Given the description of an element on the screen output the (x, y) to click on. 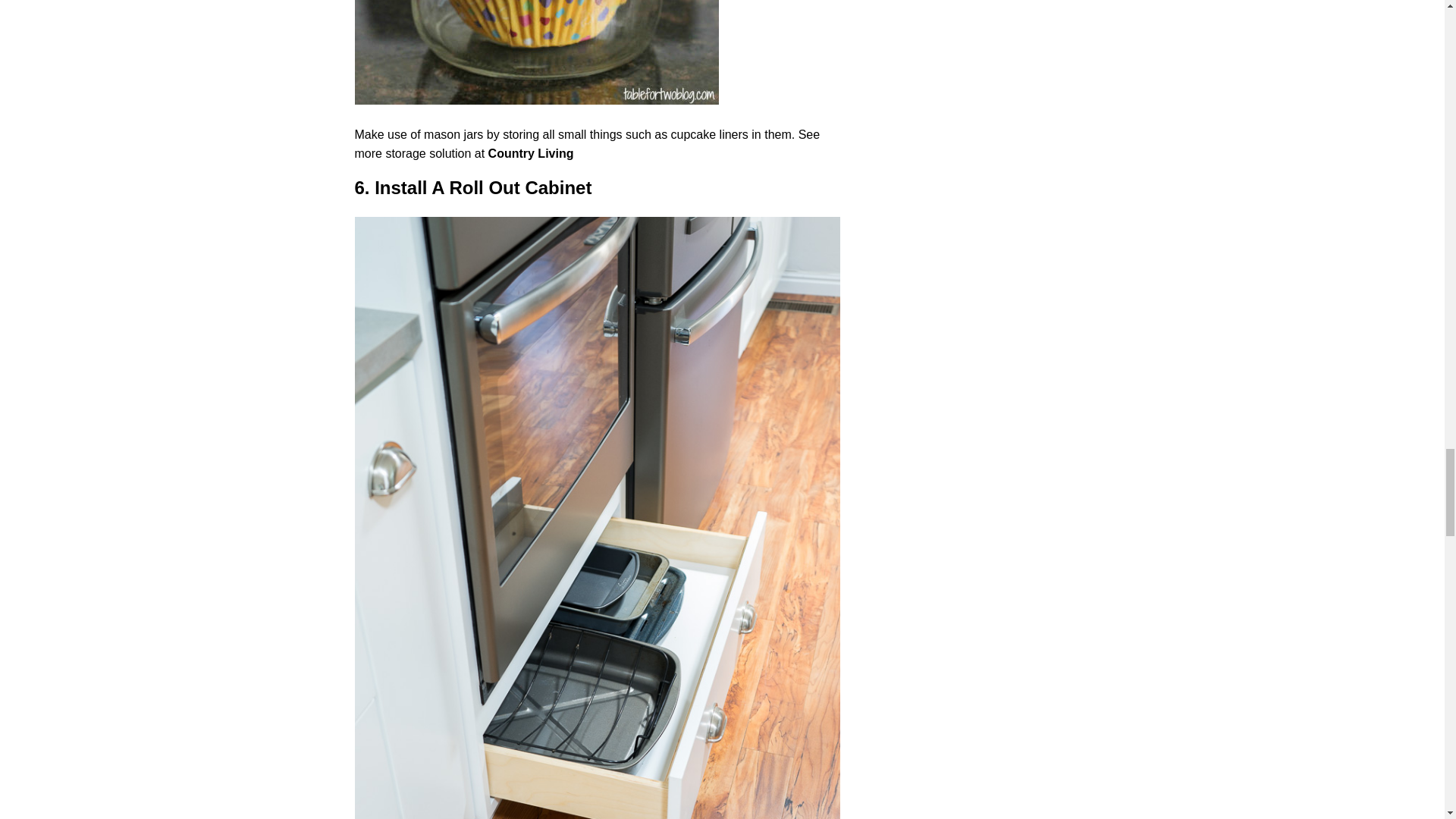
5. Store Small Things In Mason Jars (537, 52)
Country Living (530, 153)
